Given the description of an element on the screen output the (x, y) to click on. 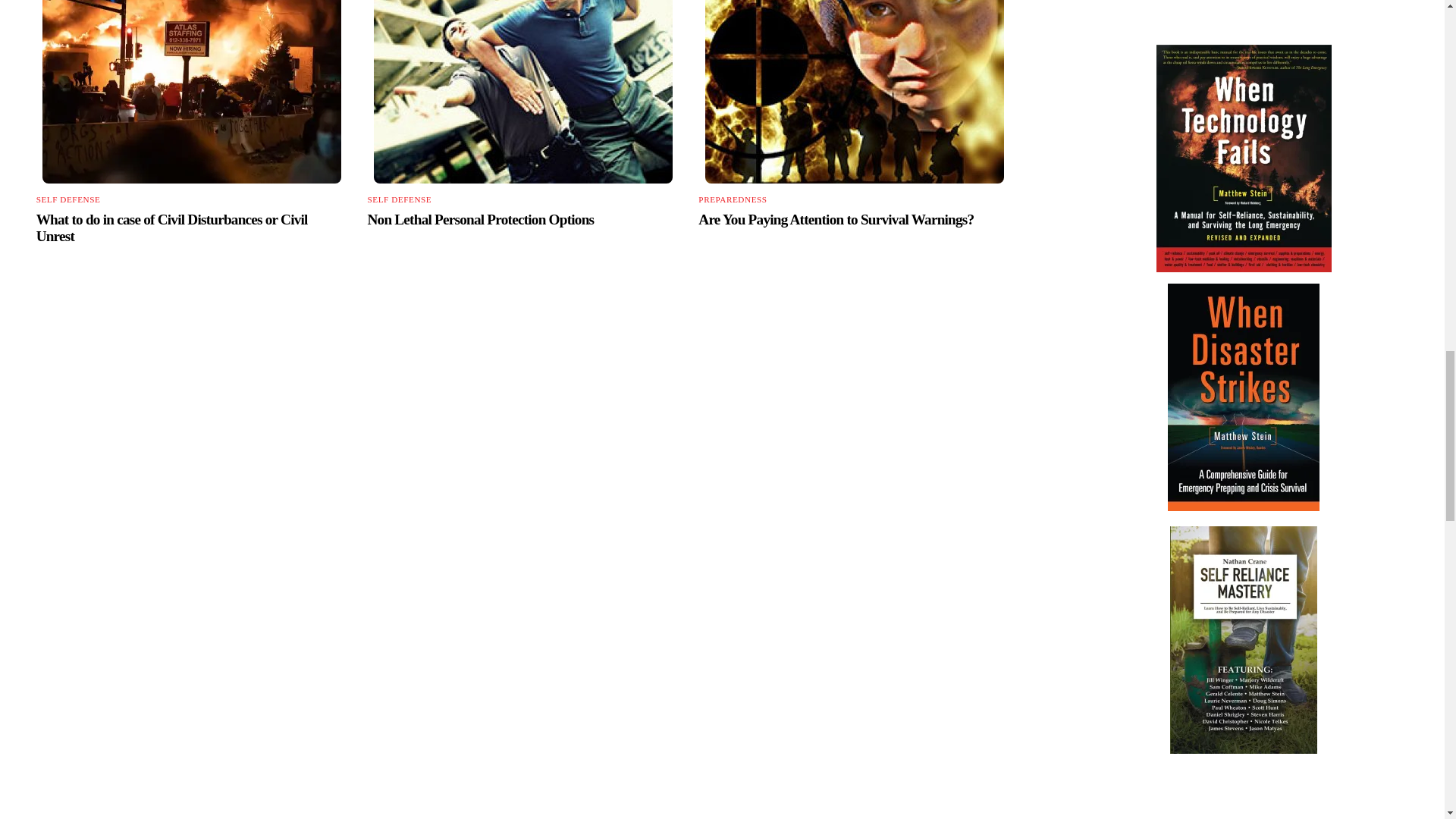
SELF DEFENSE (68, 198)
martial-arts2 (523, 91)
riots (191, 91)
What to do in case of Civil Disturbances or Civil Unrest (171, 227)
SELF DEFENSE (398, 198)
Are You Paying Attention to Survival Warnings? (836, 219)
PREPAREDNESS (732, 198)
war (854, 91)
Non Lethal Personal Protection Options (480, 219)
